Given the description of an element on the screen output the (x, y) to click on. 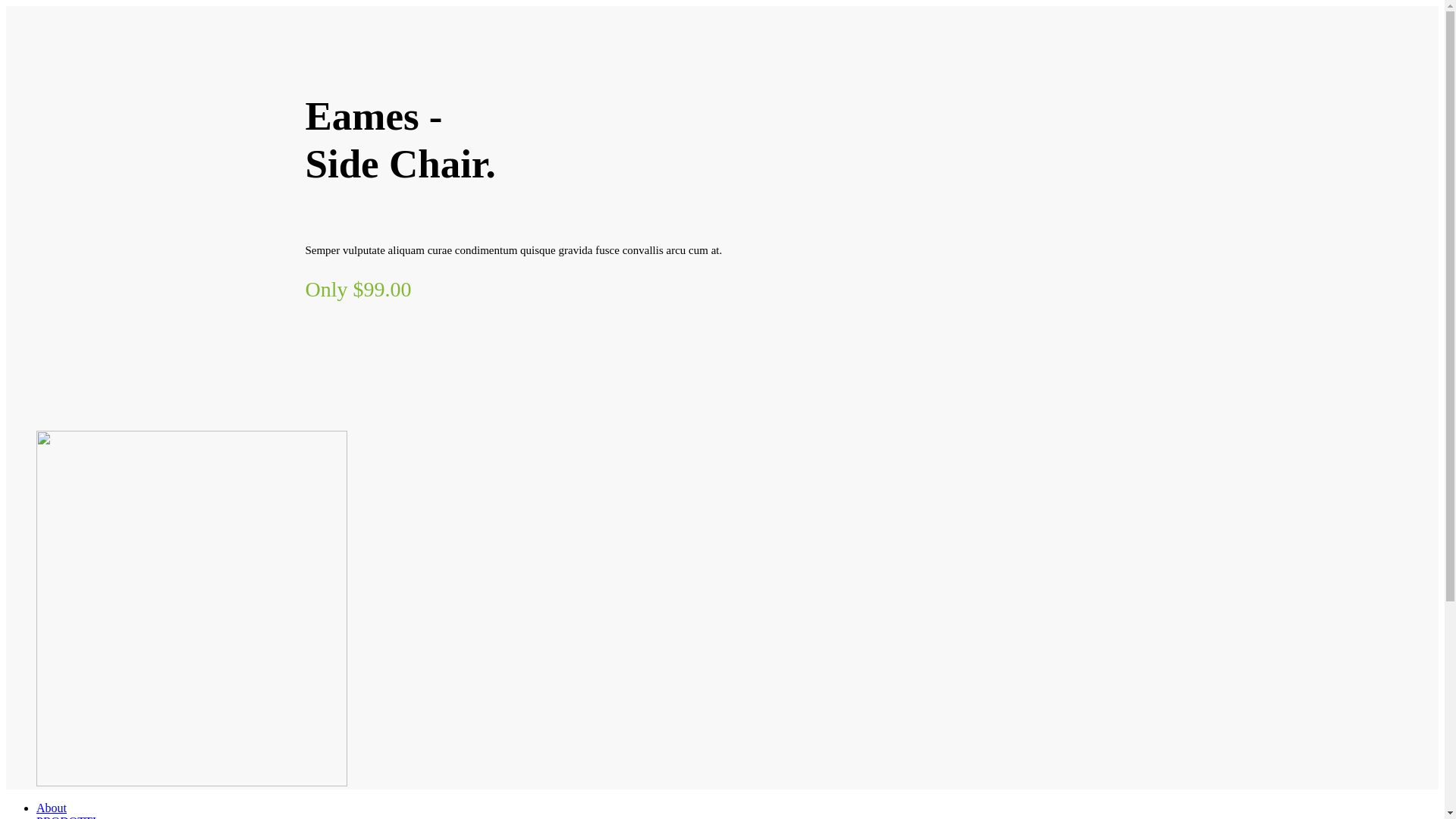
About Element type: text (51, 807)
